Given the description of an element on the screen output the (x, y) to click on. 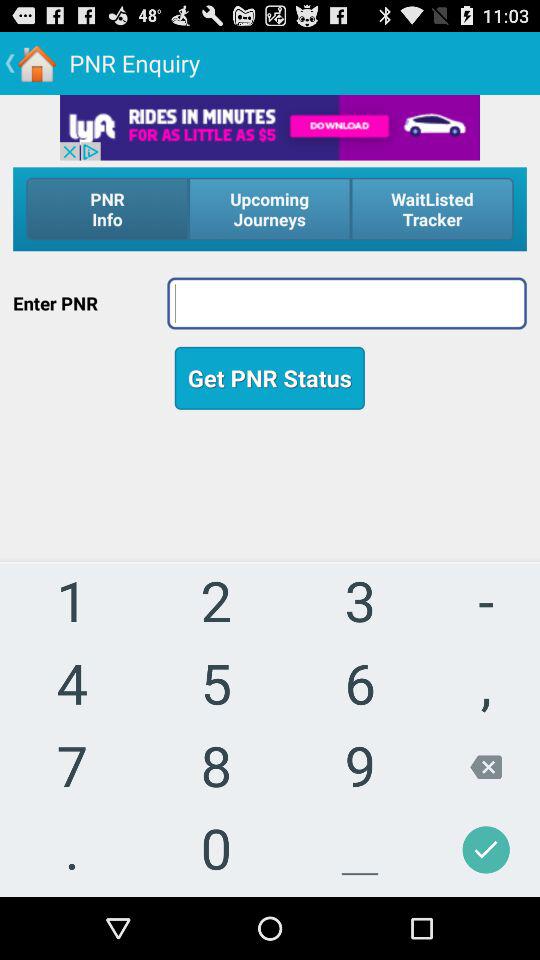
use keypad (269, 674)
